Given the description of an element on the screen output the (x, y) to click on. 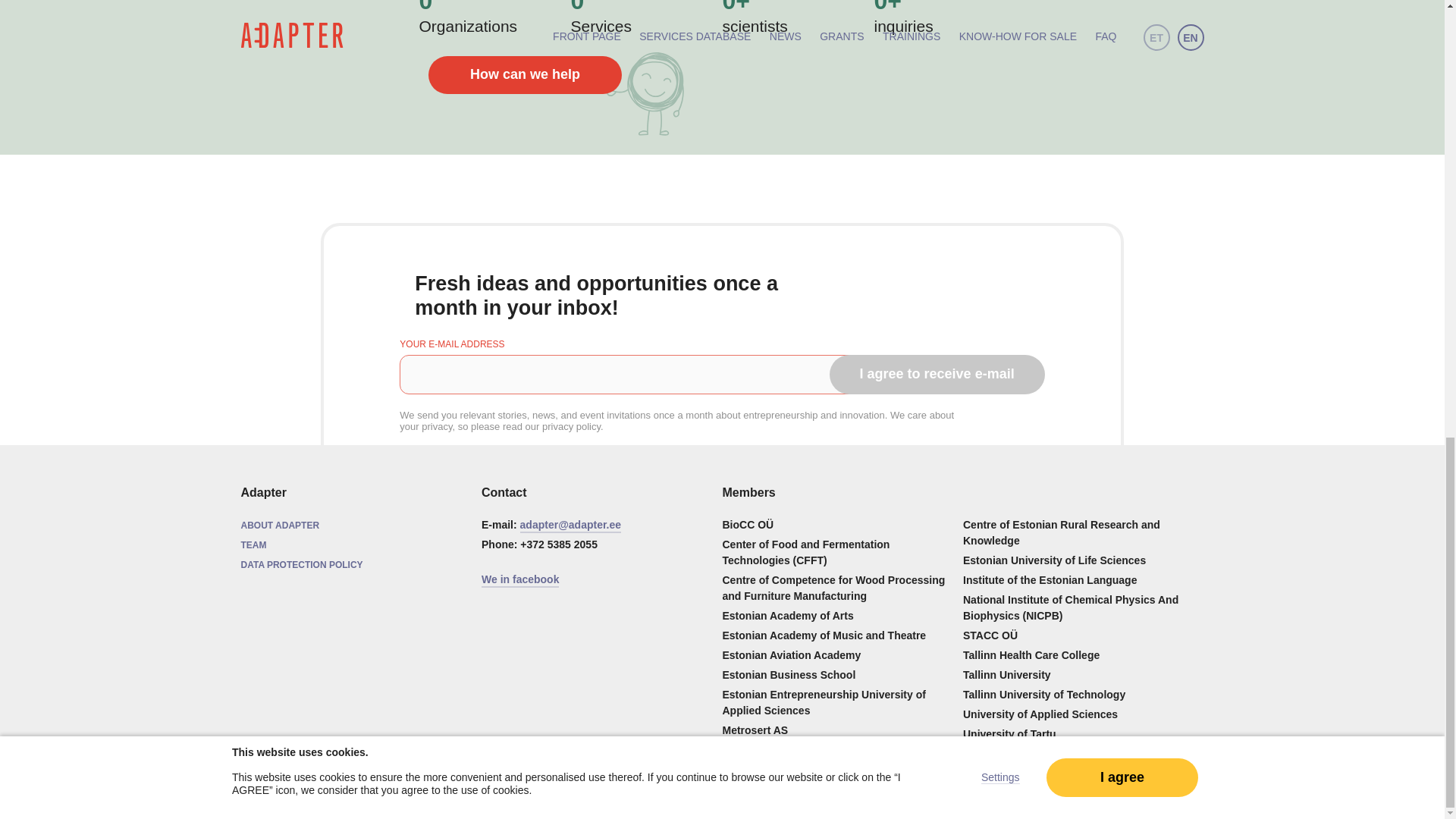
DATA PROTECTION POLICY (301, 564)
ABOUT ADAPTER (280, 525)
I agree to receive e-mail (937, 373)
TEAM (253, 544)
We in facebook (520, 579)
How can we help (524, 75)
